Given the description of an element on the screen output the (x, y) to click on. 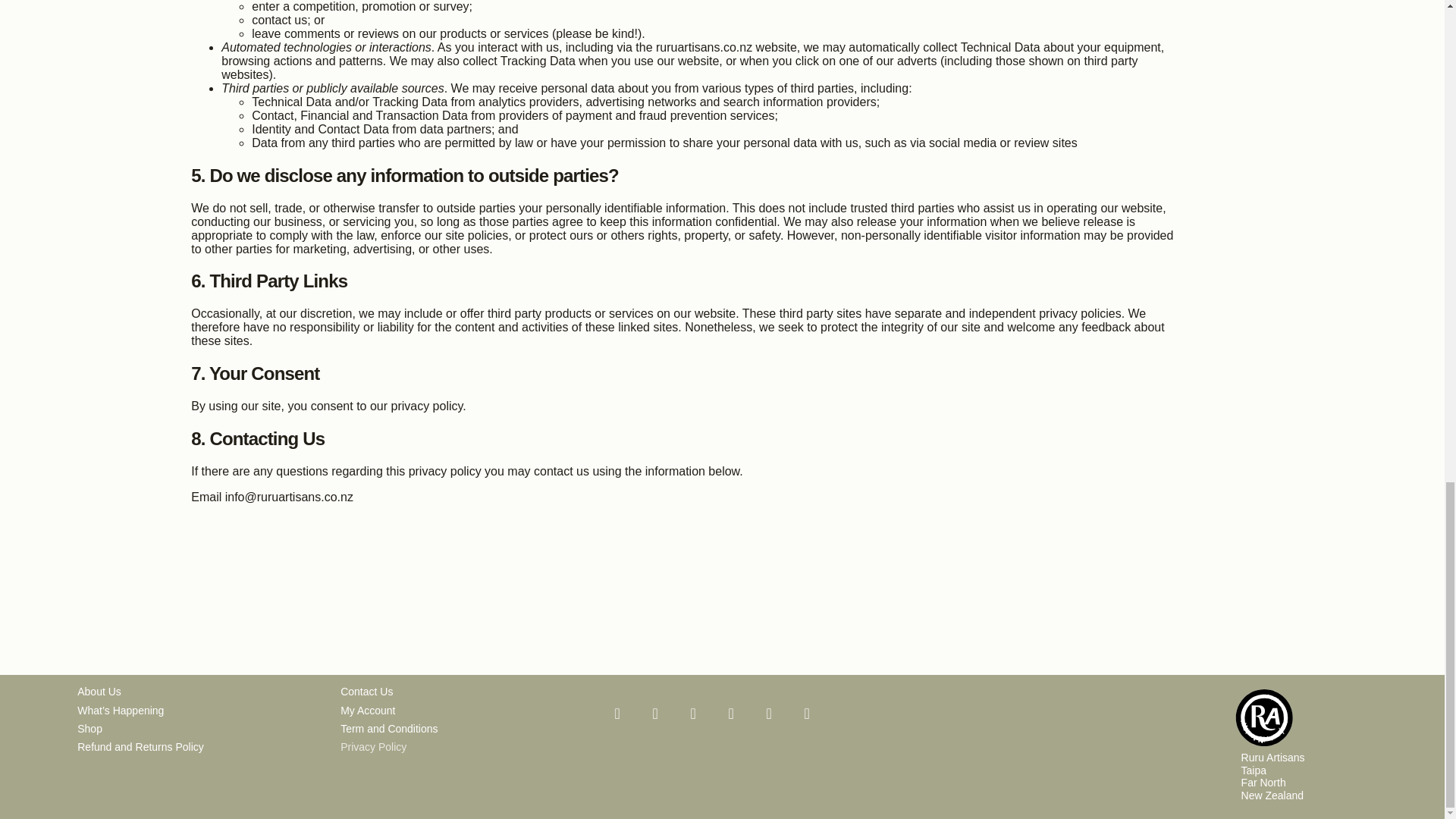
Contact Us (458, 692)
Refund and Returns Policy (195, 746)
Term and Conditions (458, 728)
About Us (195, 692)
Privacy Policy (458, 746)
Shop (195, 728)
My Account (458, 710)
